Given the description of an element on the screen output the (x, y) to click on. 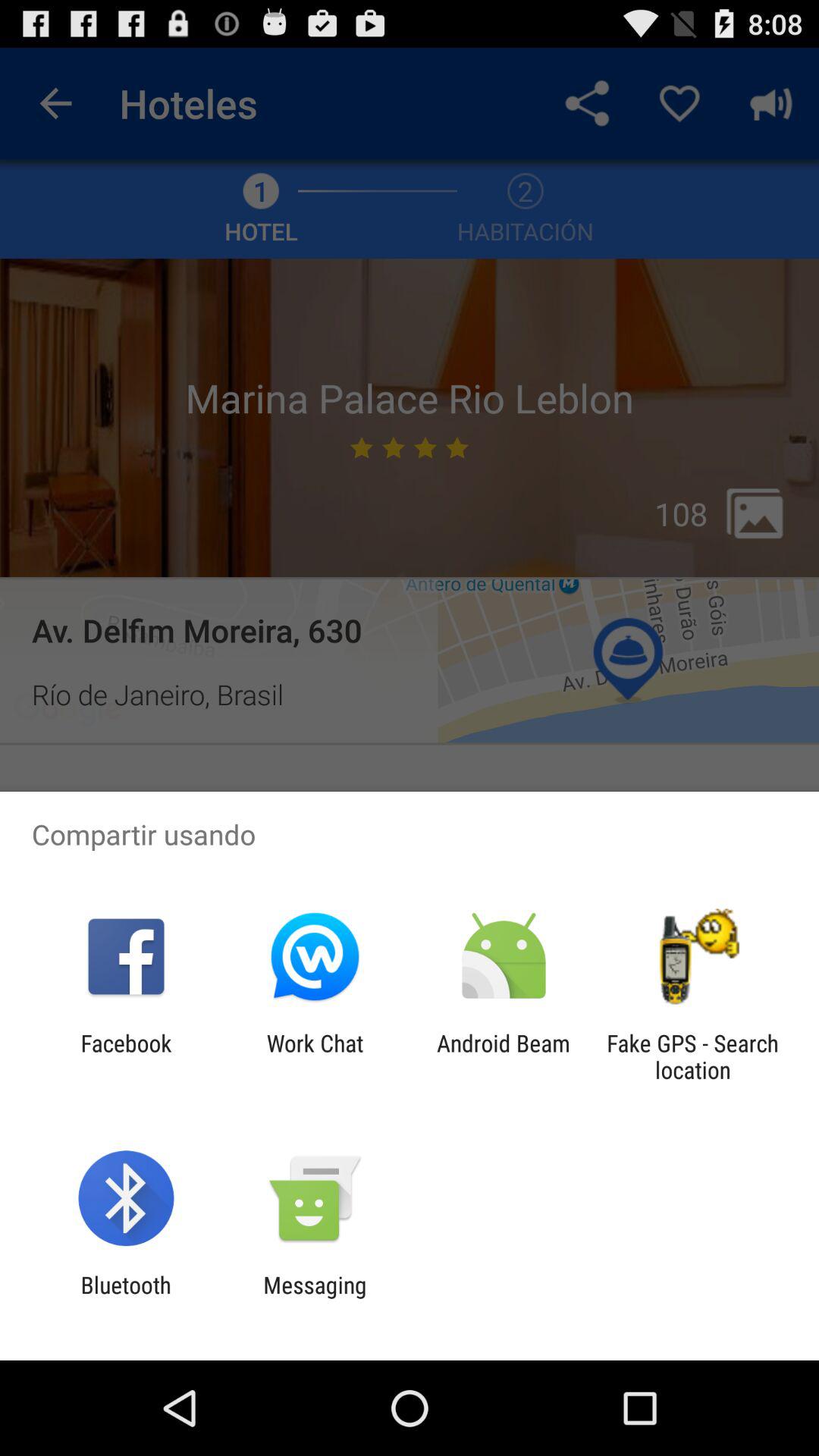
open the android beam icon (503, 1056)
